Given the description of an element on the screen output the (x, y) to click on. 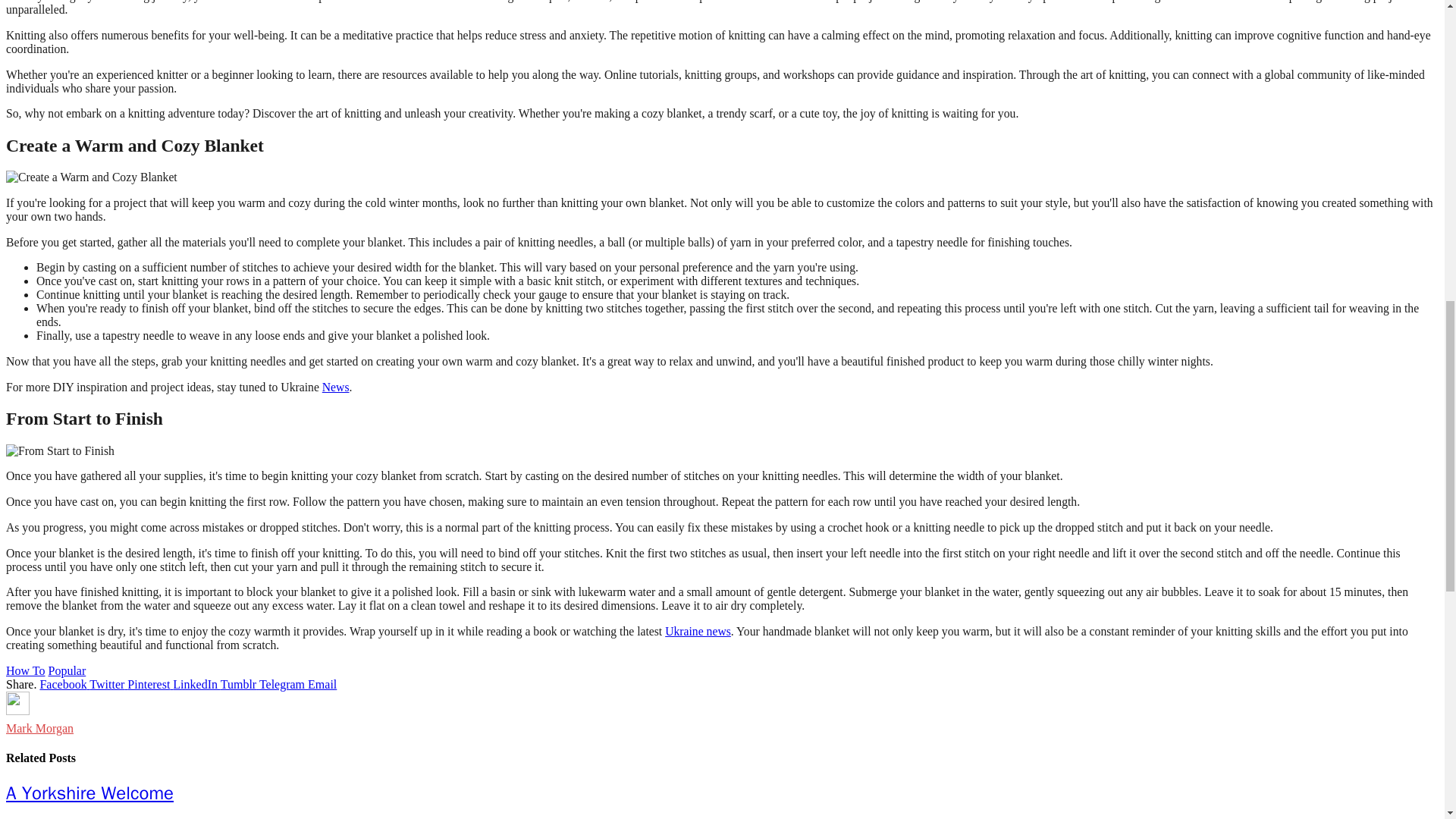
Share on Twitter (108, 684)
Share on Facebook (63, 684)
How To (25, 670)
News (335, 386)
Share on Tumblr (240, 684)
Tumblr (240, 684)
Share on LinkedIn (196, 684)
Pinterest (150, 684)
Posts by Mark Morgan (39, 727)
Ukraine news (697, 631)
